Given the description of an element on the screen output the (x, y) to click on. 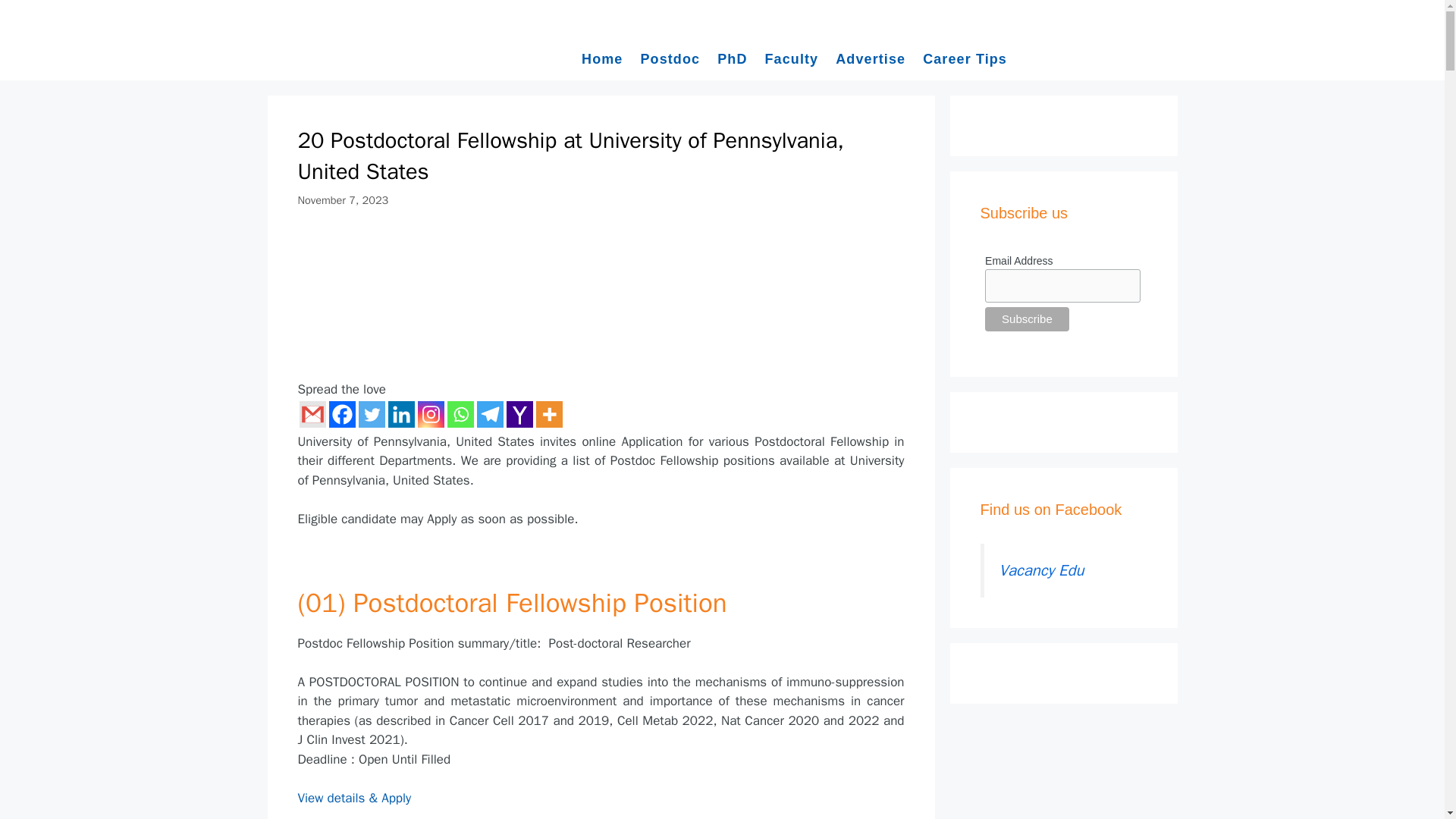
Telegram (489, 414)
Career Tips (965, 58)
Facebook (342, 414)
Twitter (371, 414)
Instagram (430, 414)
More (548, 414)
Subscribe (1026, 319)
Linkedin (401, 414)
Whatsapp (460, 414)
Advertise (870, 58)
Home (602, 58)
Postdoc (670, 58)
PhD (731, 58)
Faculty (791, 58)
Google Gmail (311, 414)
